Given the description of an element on the screen output the (x, y) to click on. 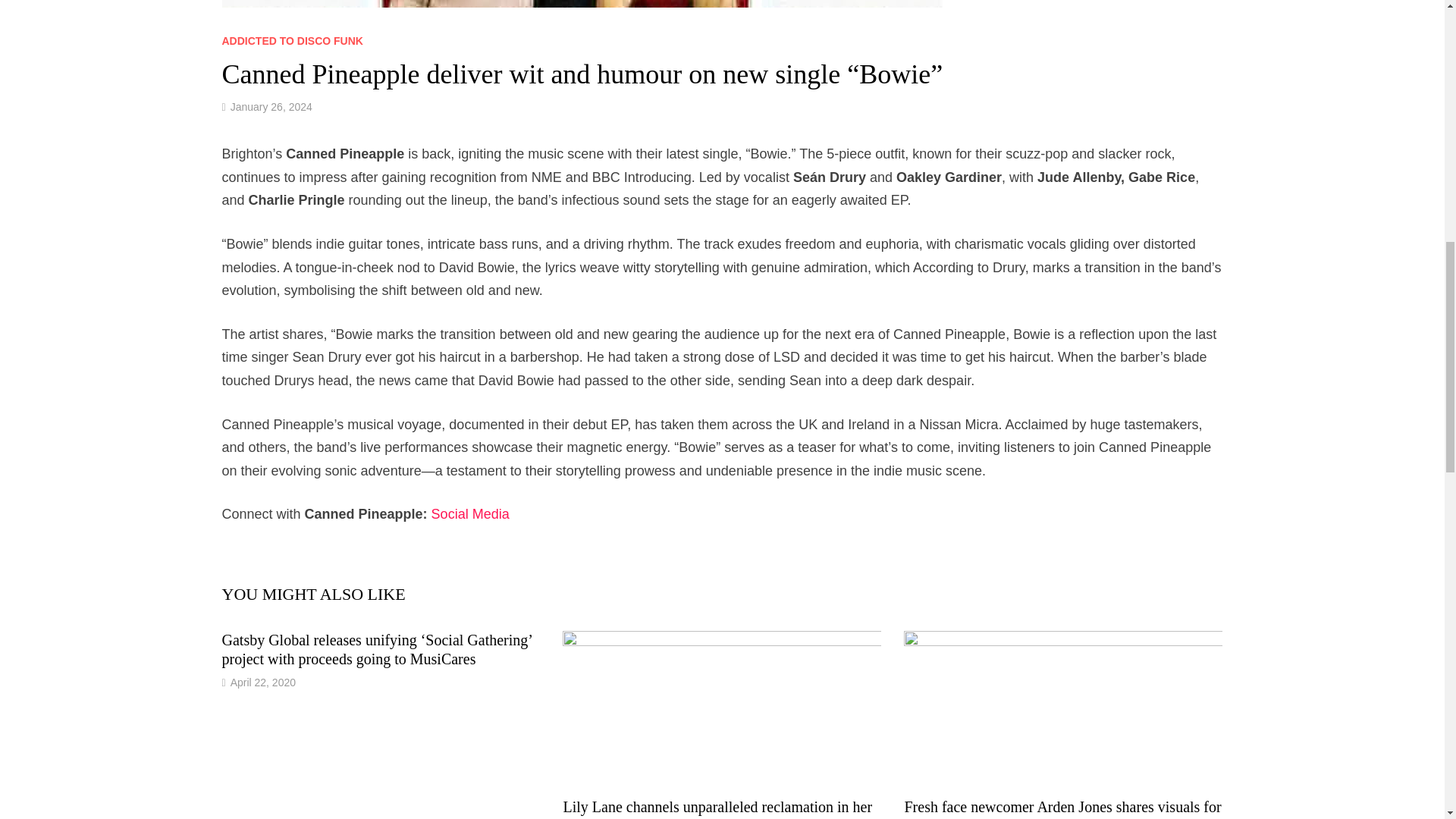
Social Media (469, 513)
January 26, 2024 (271, 106)
April 22, 2020 (262, 682)
ADDICTED TO DISCO FUNK (291, 40)
